Given the description of an element on the screen output the (x, y) to click on. 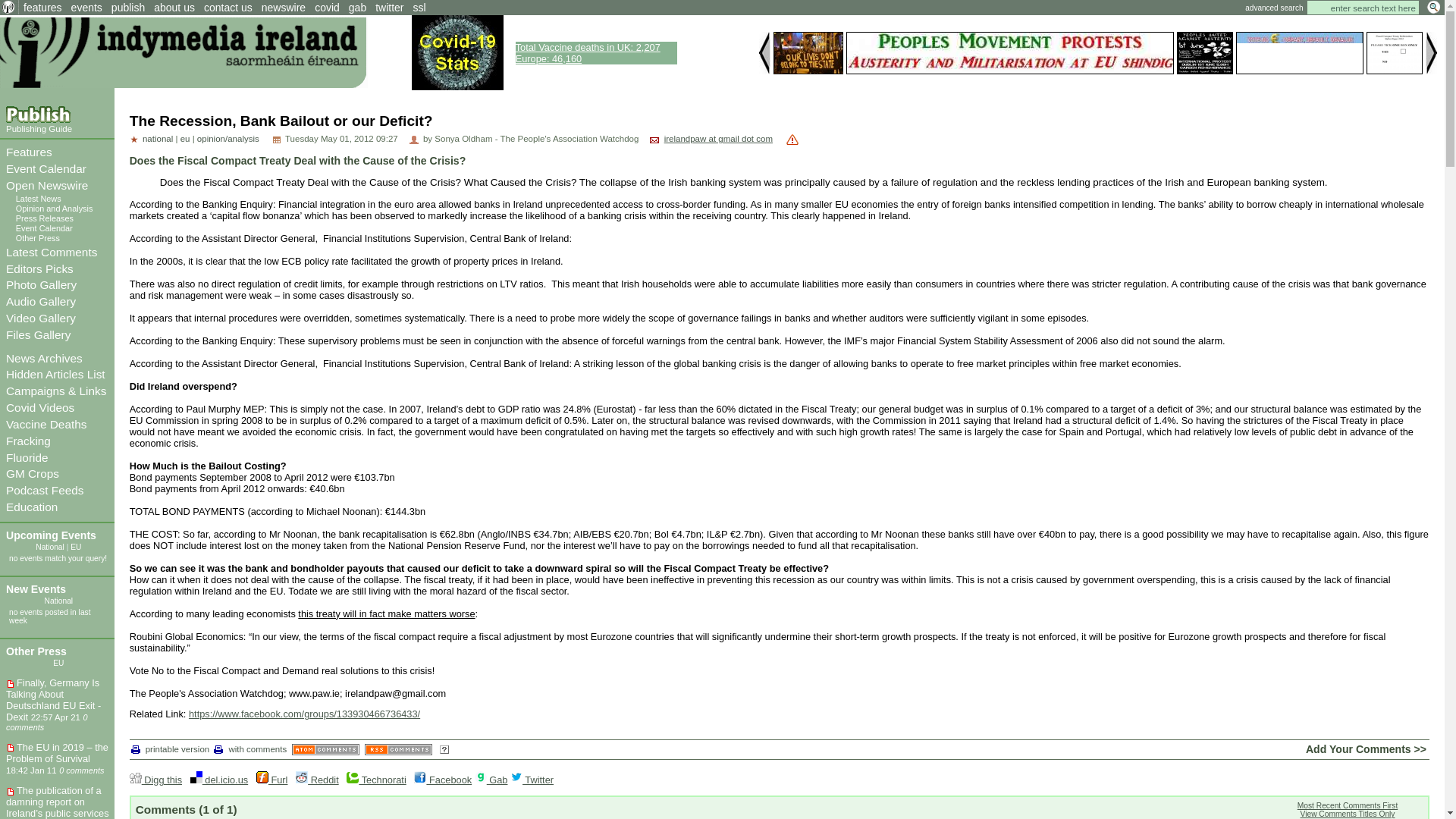
Event Calendar (45, 168)
Hidden Articles List (588, 52)
Publishing Guide (54, 373)
enter search text here (38, 128)
publish (1362, 7)
Editors Picks (127, 7)
Press Releases (39, 268)
Audio Gallery (45, 217)
